Given the description of an element on the screen output the (x, y) to click on. 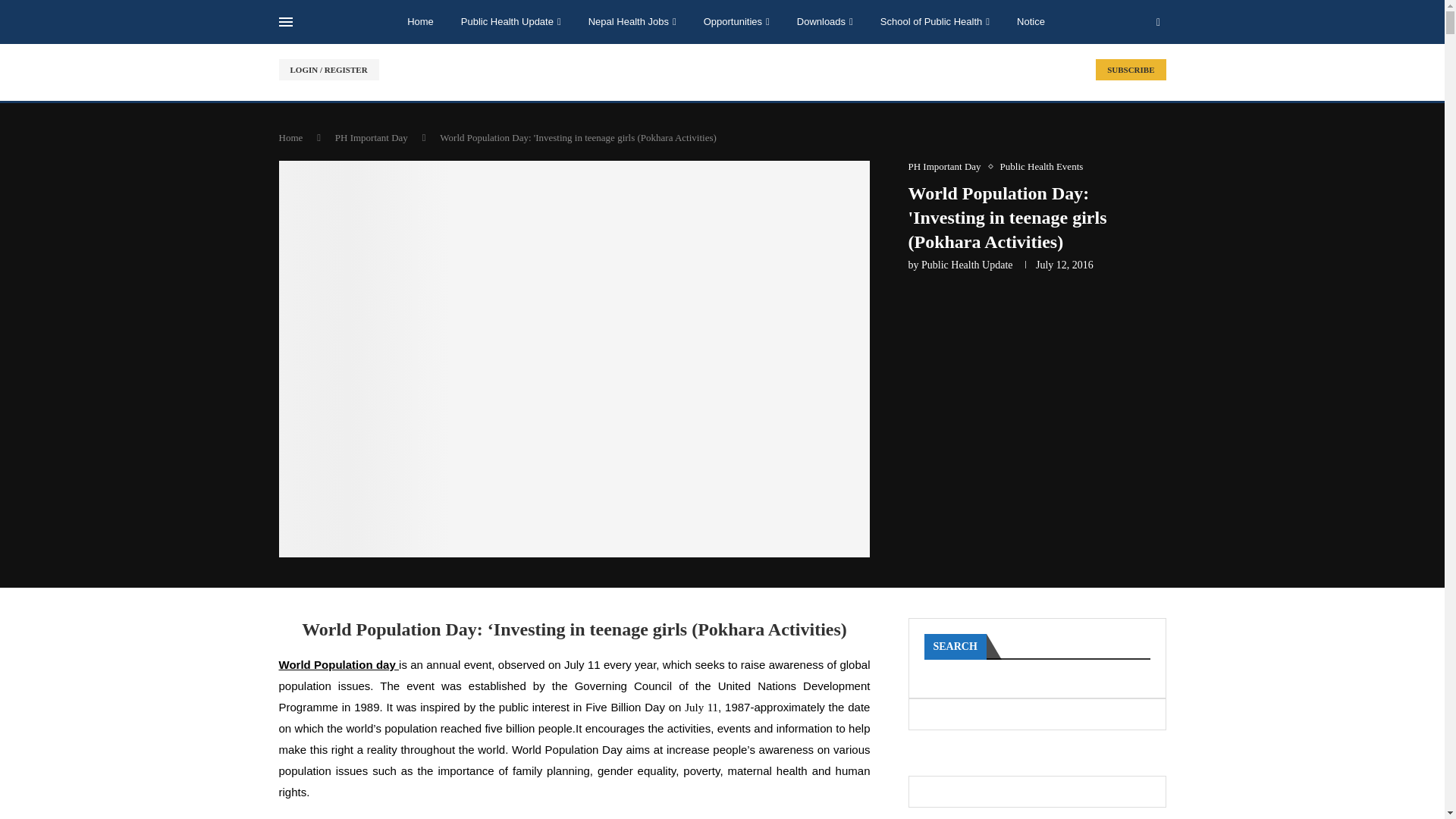
Downloads (824, 22)
Nepal Health Jobs (632, 22)
Public Health Update (510, 22)
Opportunities (736, 22)
